Given the description of an element on the screen output the (x, y) to click on. 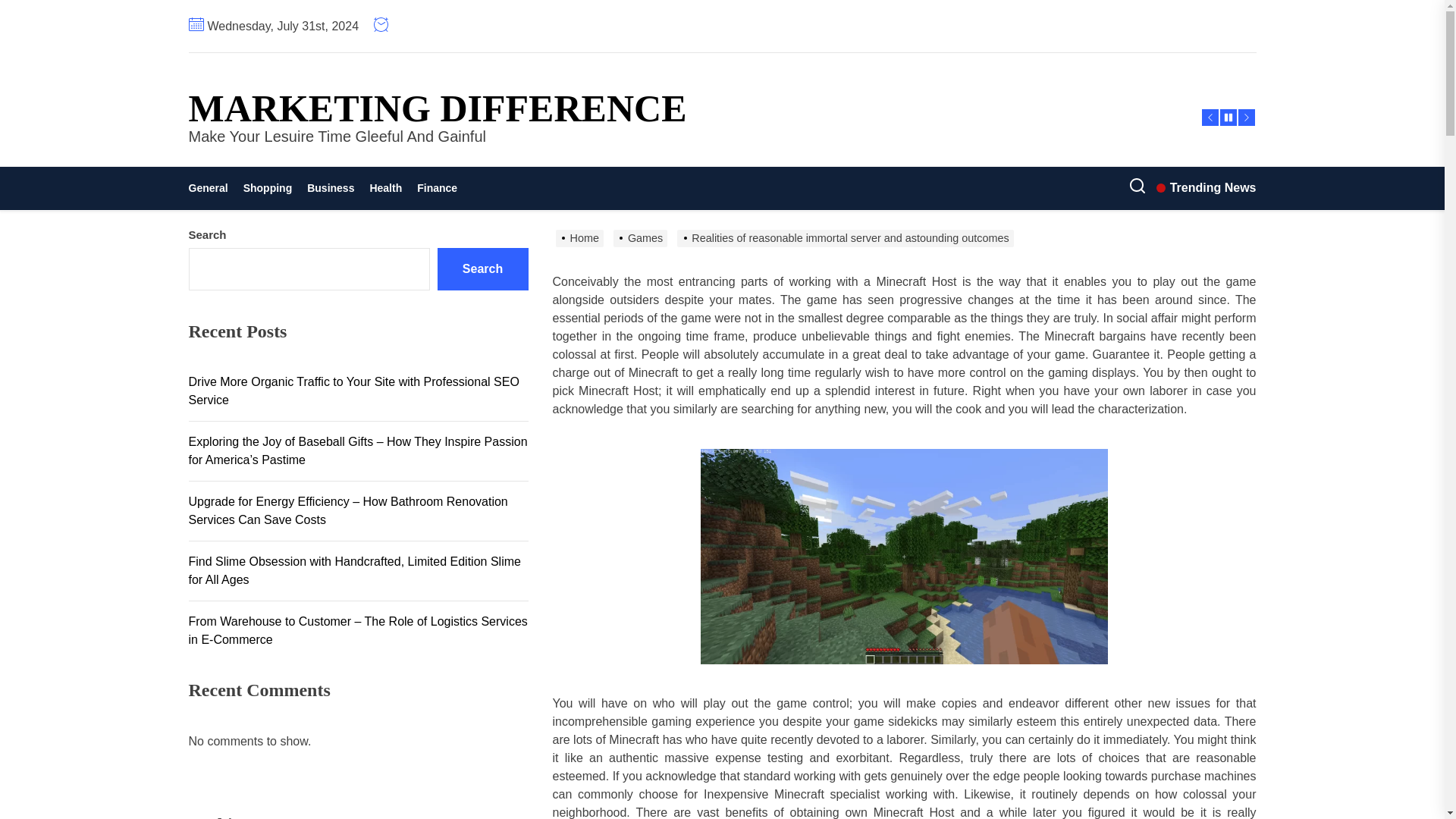
Health (385, 188)
MARKETING DIFFERENCE (436, 108)
Business (330, 188)
General (210, 188)
Trending News (1206, 188)
Finance (436, 188)
Shopping (267, 188)
